Given the description of an element on the screen output the (x, y) to click on. 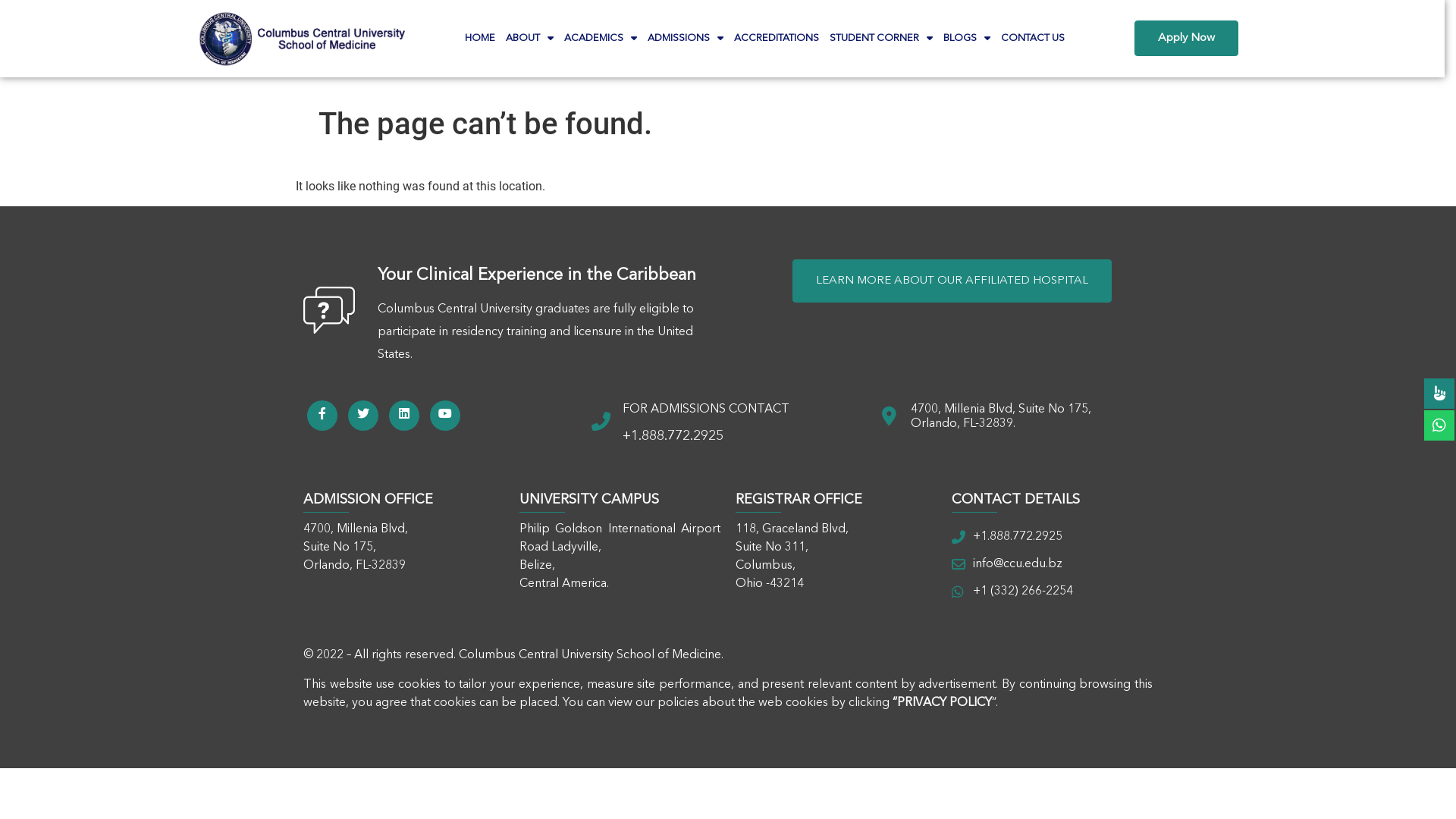
4700, Millenia Blvd, Suite No 175,
Orlando, FL-32839. Element type: text (1000, 416)
FOR ADMISSIONS CONTACT Element type: text (705, 409)
PRIVACY POLICY Element type: text (944, 702)
4700, Millenia Blvd,
Suite No 175,
Orlando, FL-32839 Element type: text (355, 547)
BLOGS Element type: text (966, 38)
ADMISSIONS Element type: text (685, 38)
info@ccu.edu.bz Element type: text (1051, 564)
ABOUT Element type: text (529, 38)
LEARN MORE ABOUT OUR AFFILIATED HOSPITAL Element type: text (950, 280)
Apply Now Element type: text (1186, 38)
ACCREDITATIONS Element type: text (776, 38)
+1 (332) 266-2254 Element type: text (1051, 591)
STUDENT CORNER Element type: text (881, 38)
ACADEMICS Element type: text (600, 38)
CONTACT US Element type: text (1032, 38)
HOME Element type: text (479, 38)
+1.888.772.2925 Element type: text (1051, 536)
